Given the description of an element on the screen output the (x, y) to click on. 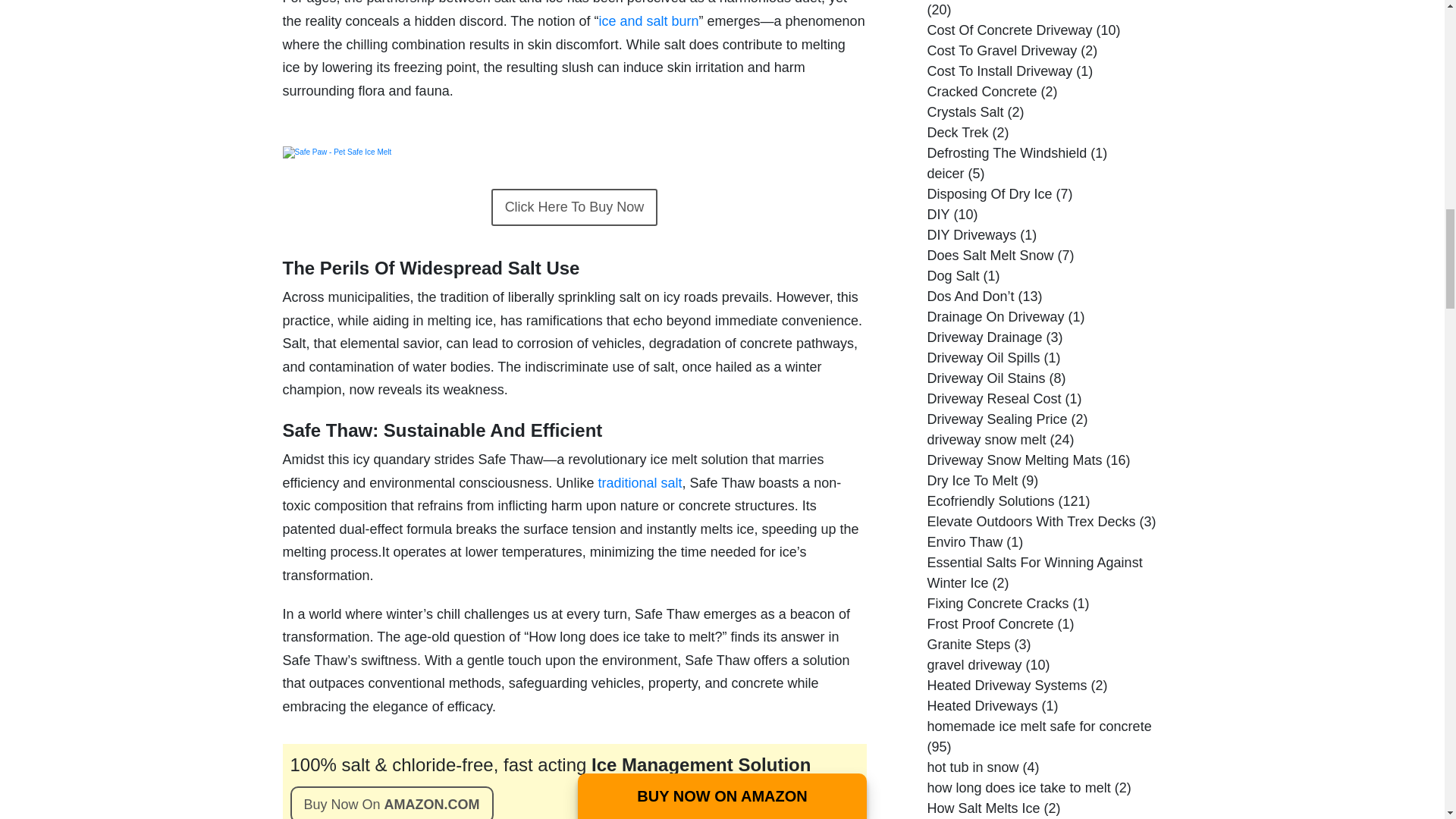
Click Here To Buy Now (575, 207)
Buy Now On AMAZON.COM (391, 802)
ice and salt burn (648, 20)
traditional salt (638, 482)
